Given the description of an element on the screen output the (x, y) to click on. 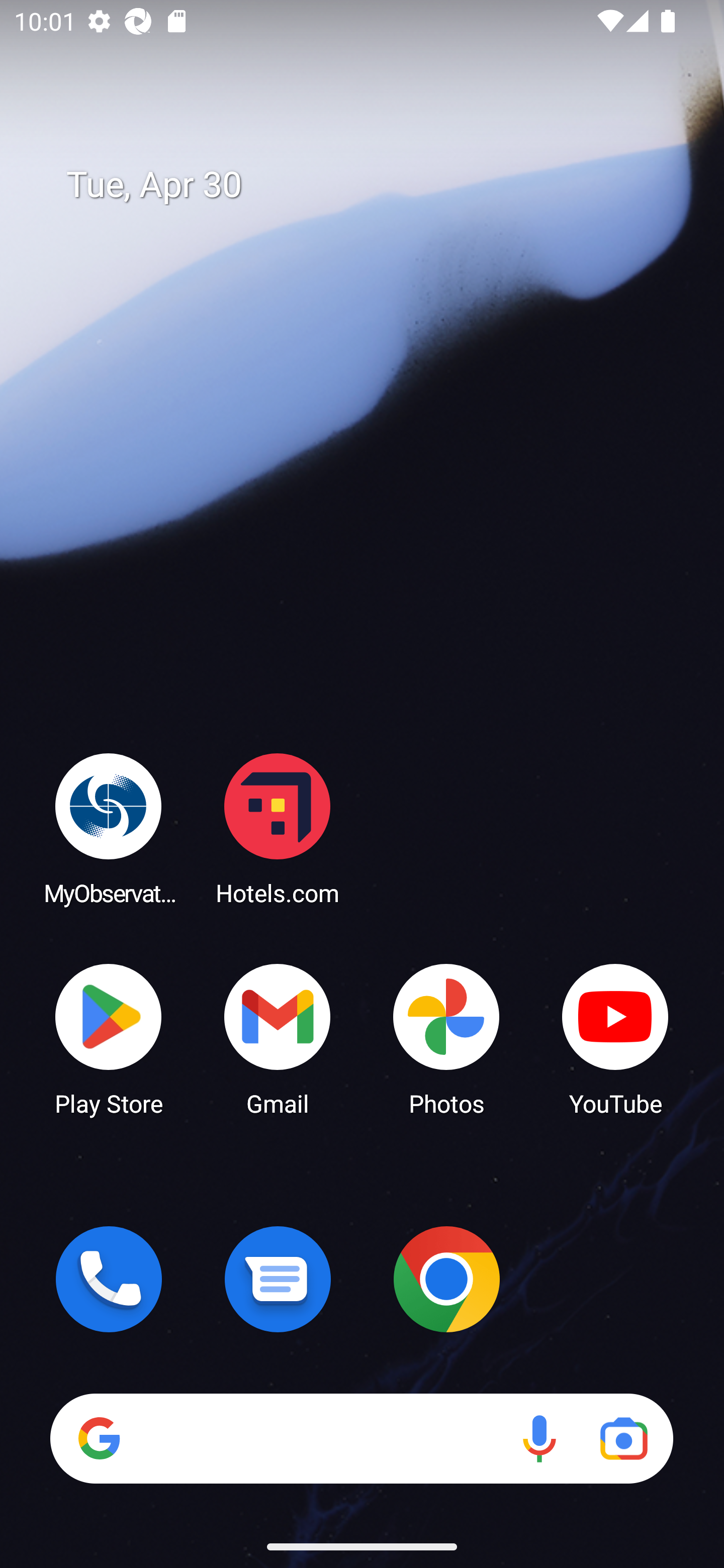
Tue, Apr 30 (375, 184)
MyObservatory (108, 828)
Hotels.com (277, 828)
Play Store (108, 1038)
Gmail (277, 1038)
Photos (445, 1038)
YouTube (615, 1038)
Phone (108, 1279)
Messages (277, 1279)
Chrome (446, 1279)
Search Voice search Google Lens (361, 1438)
Voice search (539, 1438)
Google Lens (623, 1438)
